Given the description of an element on the screen output the (x, y) to click on. 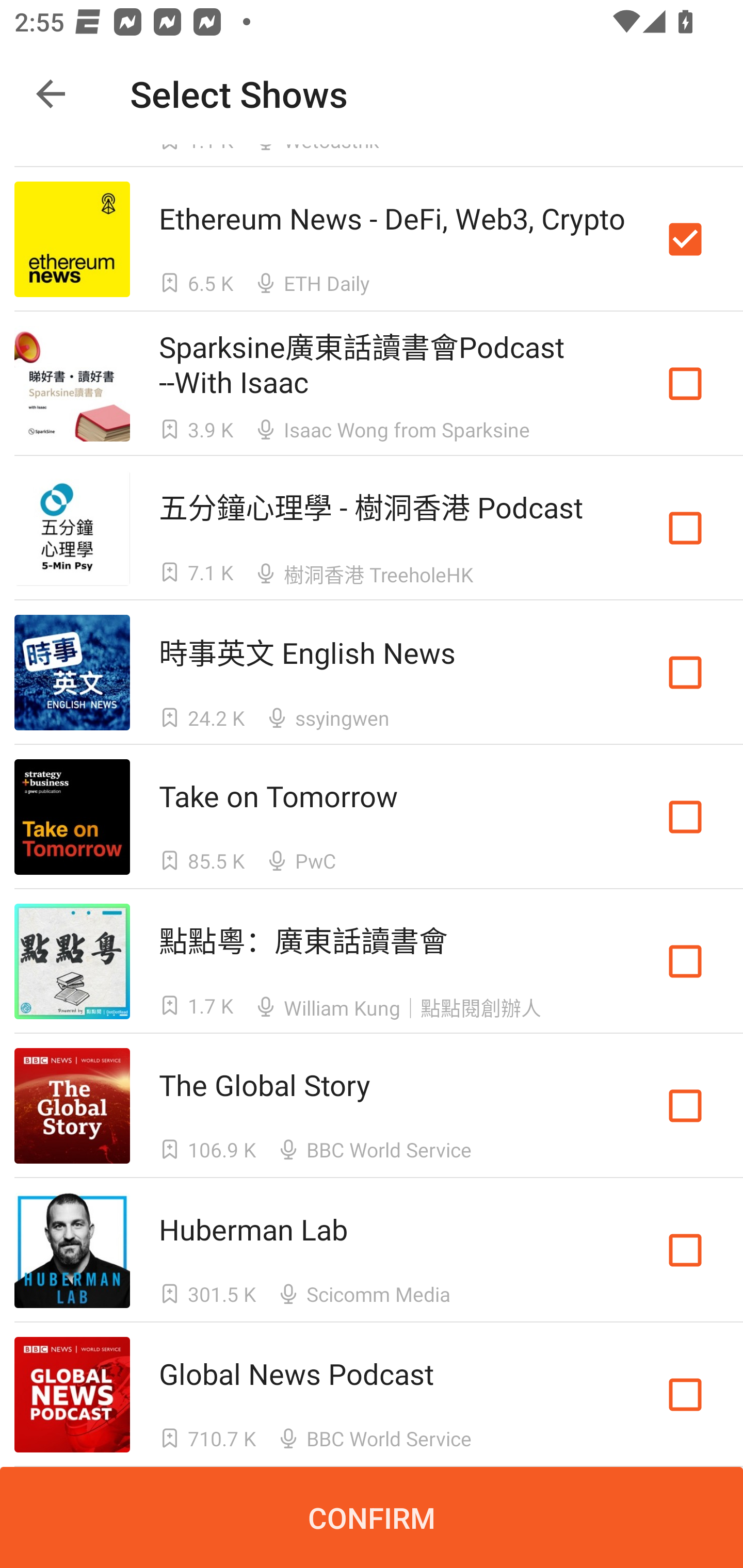
Navigate up (50, 93)
Take on Tomorrow Take on Tomorrow  85.5 K  PwC (371, 816)
CONFIRM (371, 1517)
